Given the description of an element on the screen output the (x, y) to click on. 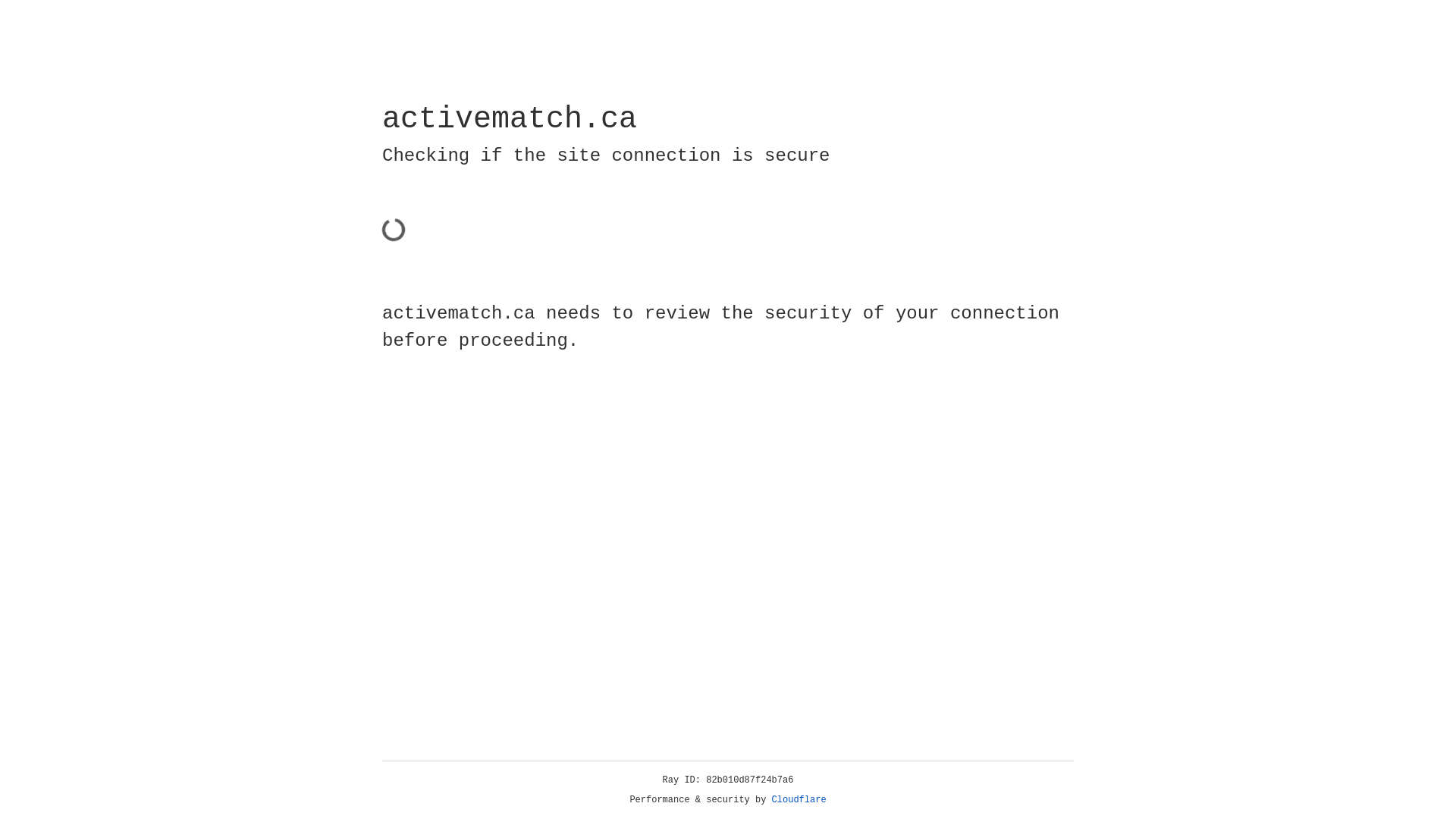
Cloudflare Element type: text (798, 799)
